Given the description of an element on the screen output the (x, y) to click on. 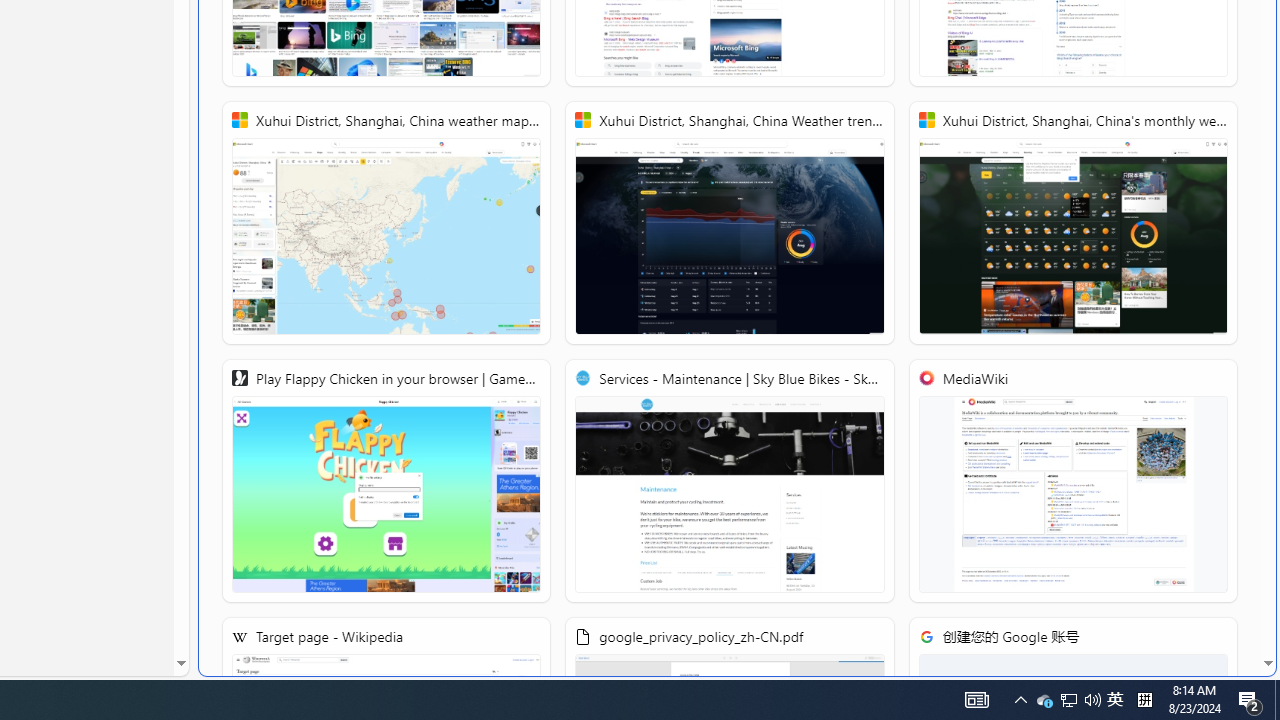
MediaWiki (1072, 481)
Services - Maintenance | Sky Blue Bikes - Sky Blue Bikes (729, 481)
